Given the description of an element on the screen output the (x, y) to click on. 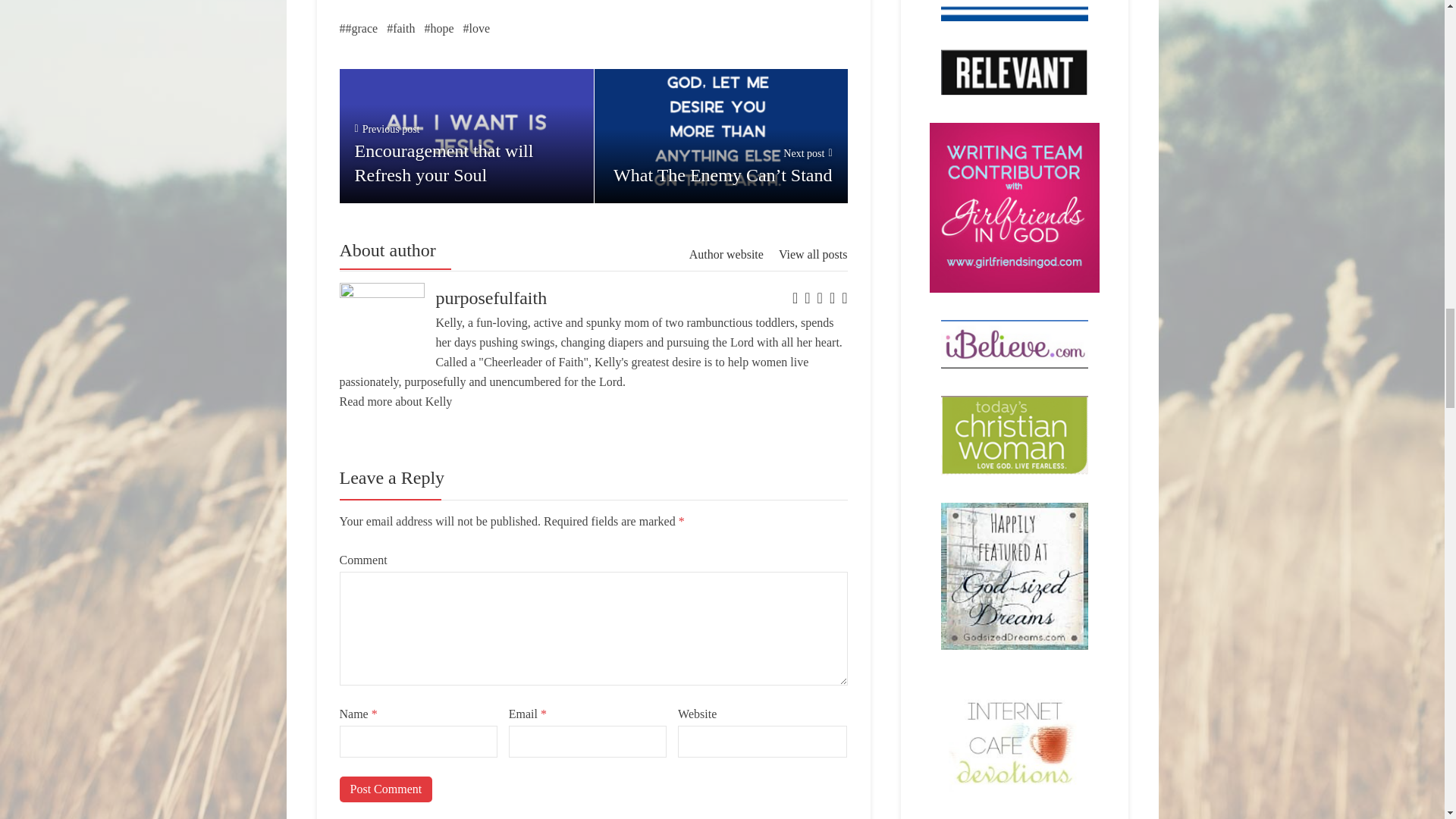
love (476, 28)
Post Comment (385, 789)
Read more about Kelly (395, 400)
hope (466, 135)
View all posts (437, 28)
Post Comment (812, 254)
faith (385, 789)
Author website (400, 28)
